Given the description of an element on the screen output the (x, y) to click on. 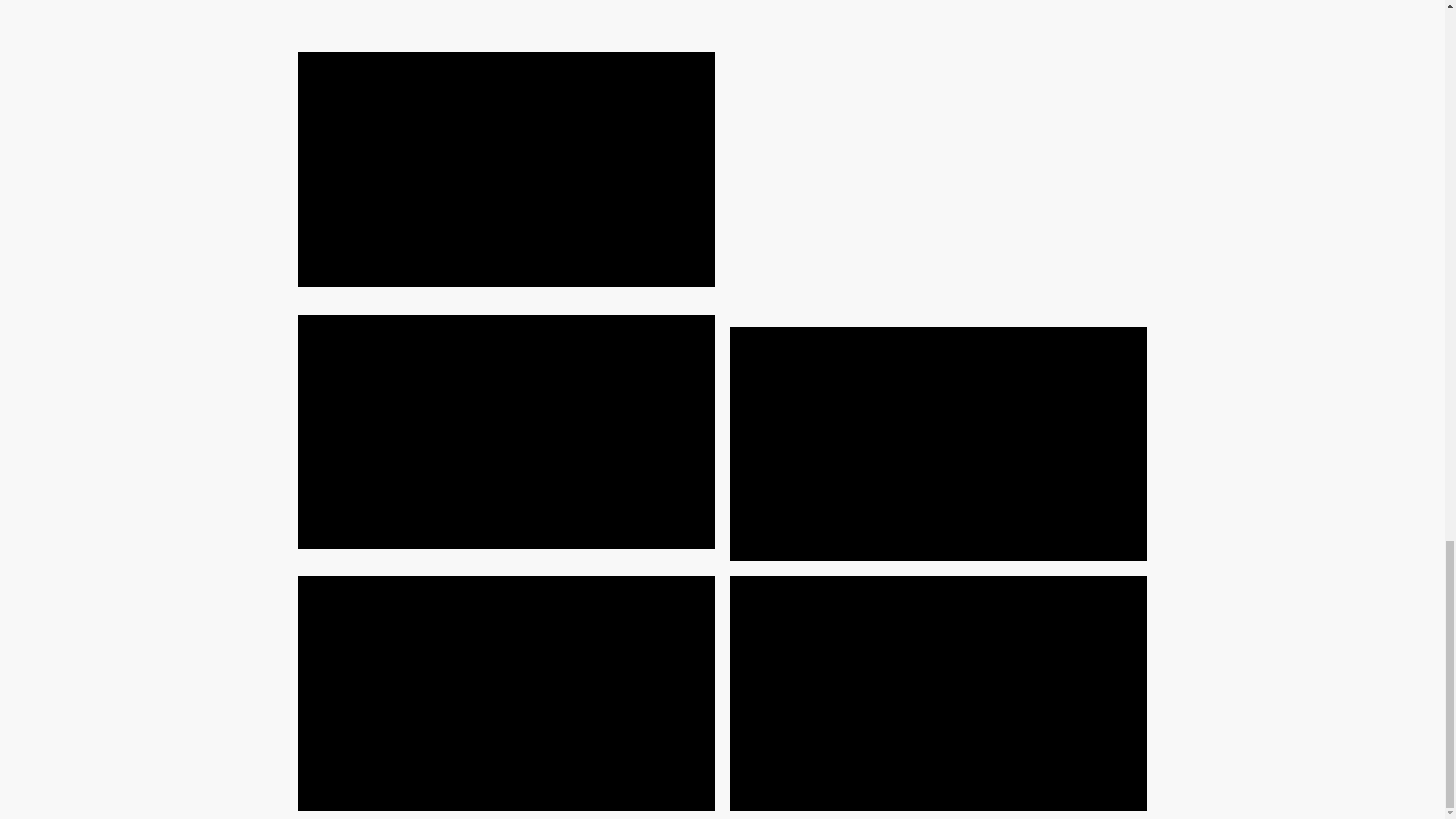
vimeo Video Player (505, 693)
vimeo Video Player (505, 431)
vimeo Video Player (938, 693)
vimeo Video Player (505, 169)
vimeo Video Player (938, 443)
